Given the description of an element on the screen output the (x, y) to click on. 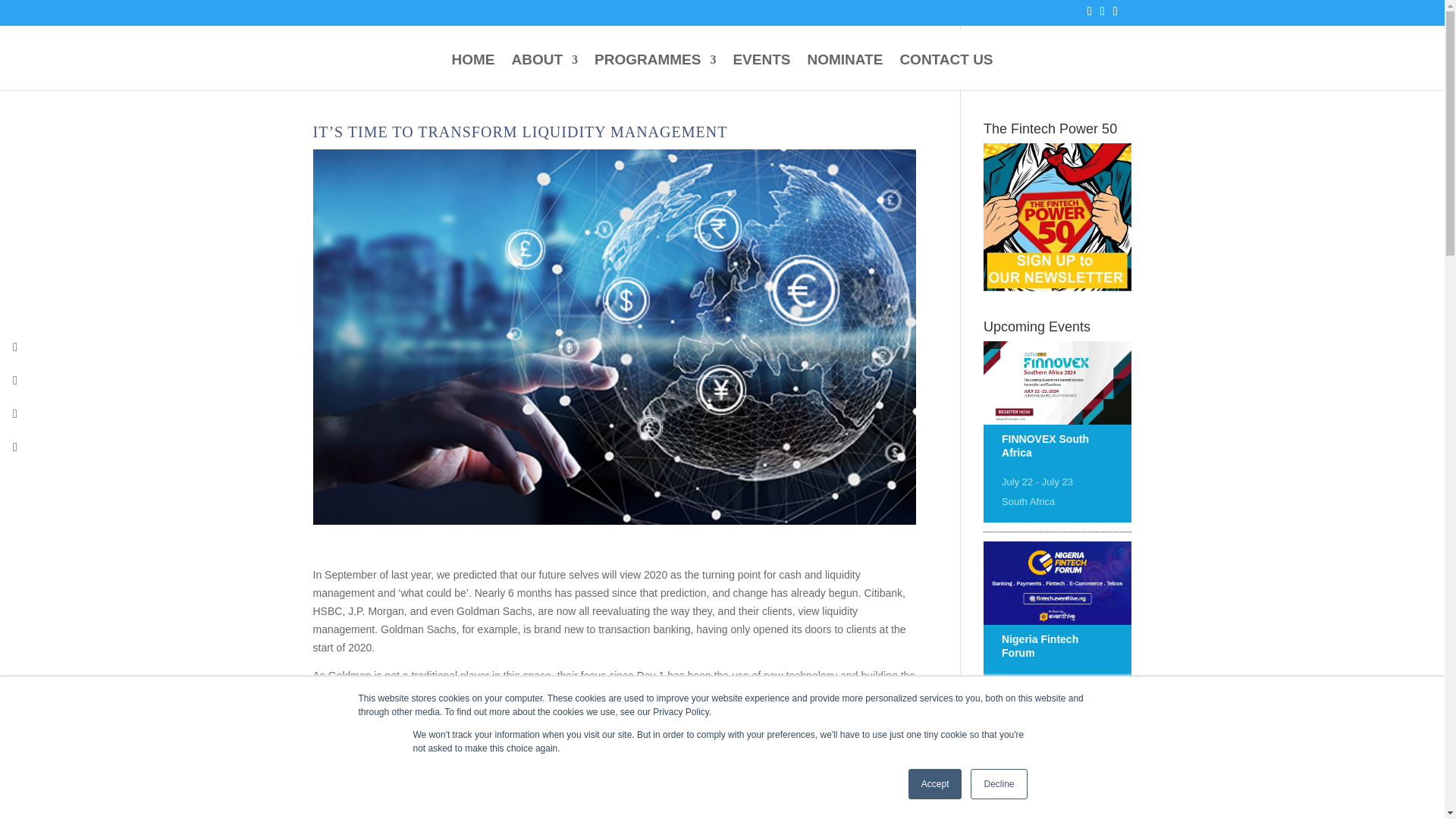
Decline (998, 784)
ABOUT (544, 72)
HOME (473, 72)
EVENTS (761, 72)
Accept (935, 784)
CONTACT US (945, 72)
NOMINATE (844, 72)
PROGRAMMES (655, 72)
